Given the description of an element on the screen output the (x, y) to click on. 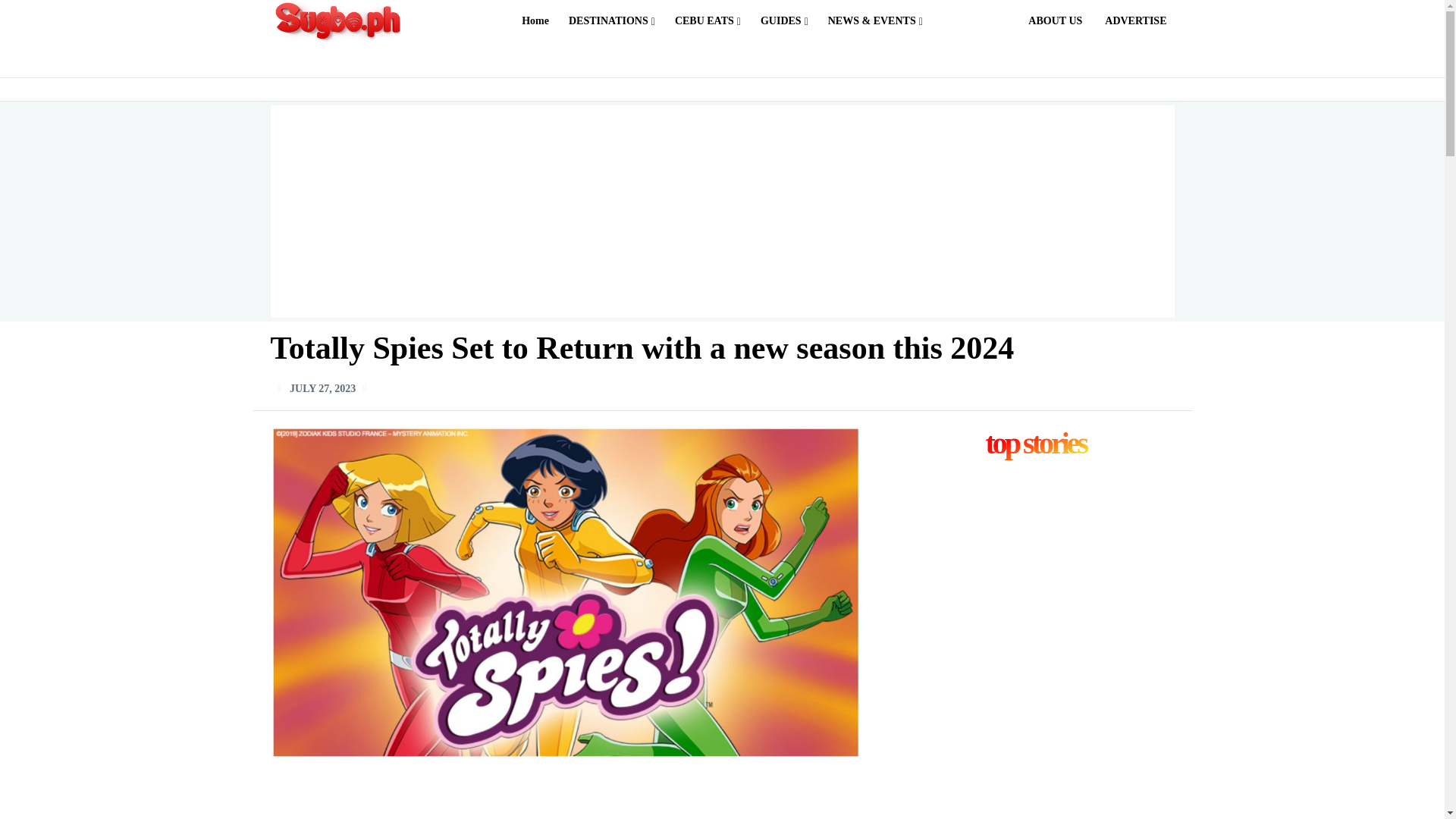
GUIDES (783, 20)
Sugbo.ph (338, 20)
CEBU EATS (707, 20)
DESTINATIONS (611, 20)
Home (534, 20)
